Given the description of an element on the screen output the (x, y) to click on. 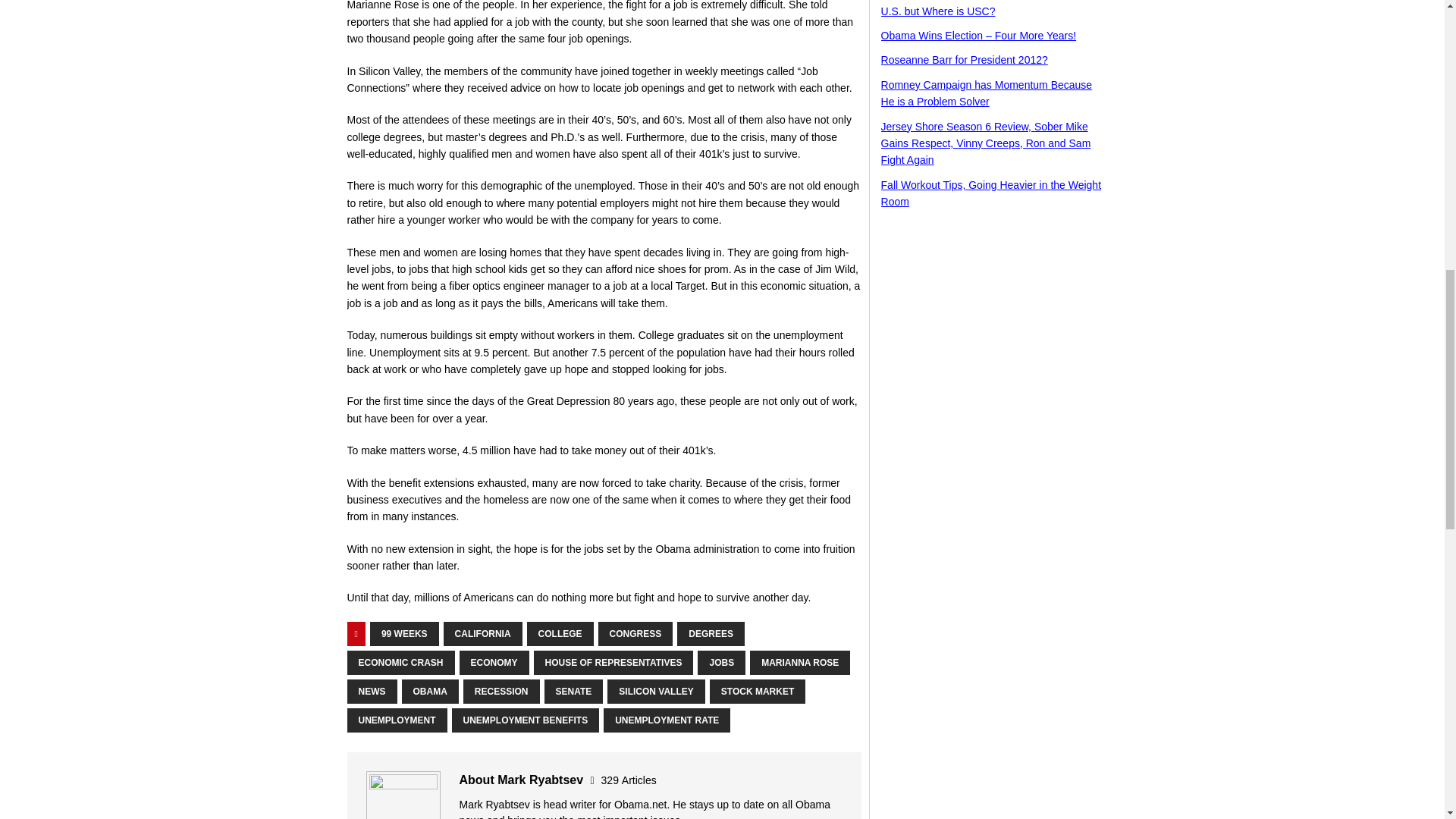
UNEMPLOYMENT RATE (667, 720)
329 Articles (628, 779)
JOBS (721, 662)
ECONOMY (494, 662)
HOUSE OF REPRESENTATIVES (614, 662)
CALIFORNIA (483, 633)
RECESSION (501, 691)
ECONOMIC CRASH (400, 662)
OBAMA (429, 691)
CONGRESS (635, 633)
